Given the description of an element on the screen output the (x, y) to click on. 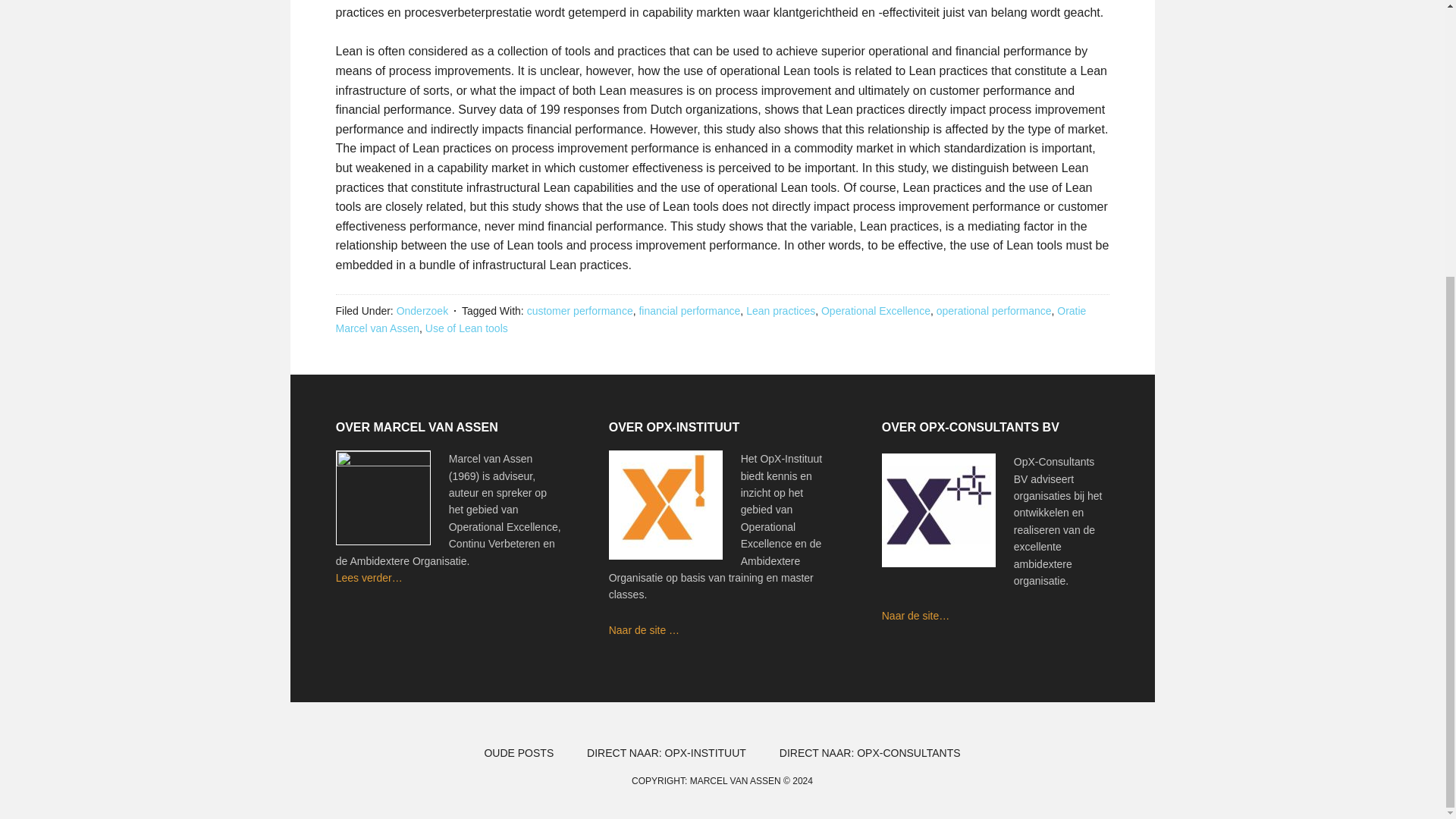
DIRECT NAAR: OPX-INSTITUUT (666, 752)
Lean practices (780, 310)
customer performance (580, 310)
Operational Excellence (875, 310)
Onderzoek (422, 310)
operational performance (993, 310)
financial performance (689, 310)
Oratie Marcel van Assen (710, 318)
OUDE POSTS (518, 752)
DIRECT NAAR: OPX-CONSULTANTS (869, 752)
Use of Lean tools (466, 328)
